Given the description of an element on the screen output the (x, y) to click on. 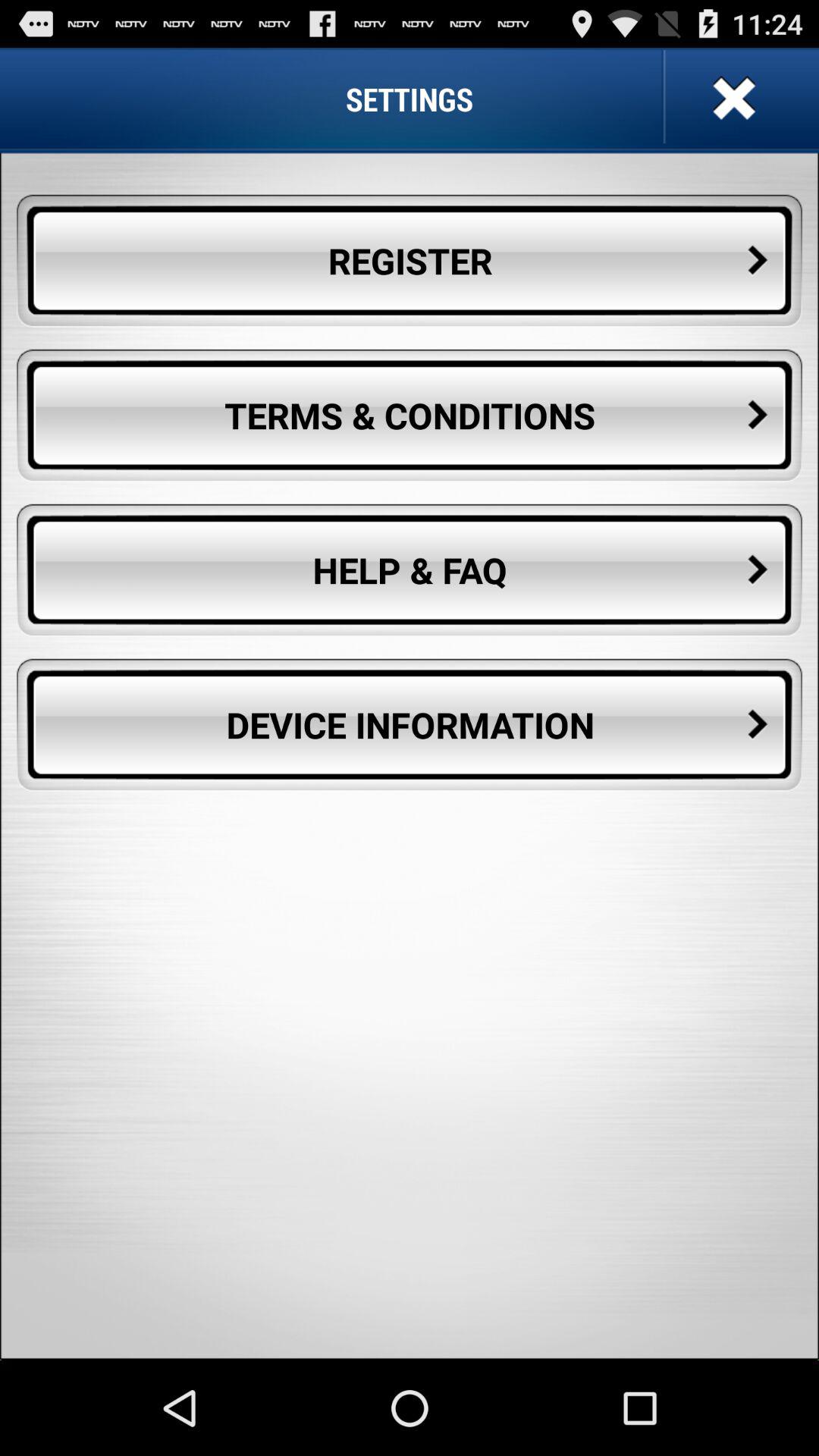
jump to the device information icon (409, 724)
